Given the description of an element on the screen output the (x, y) to click on. 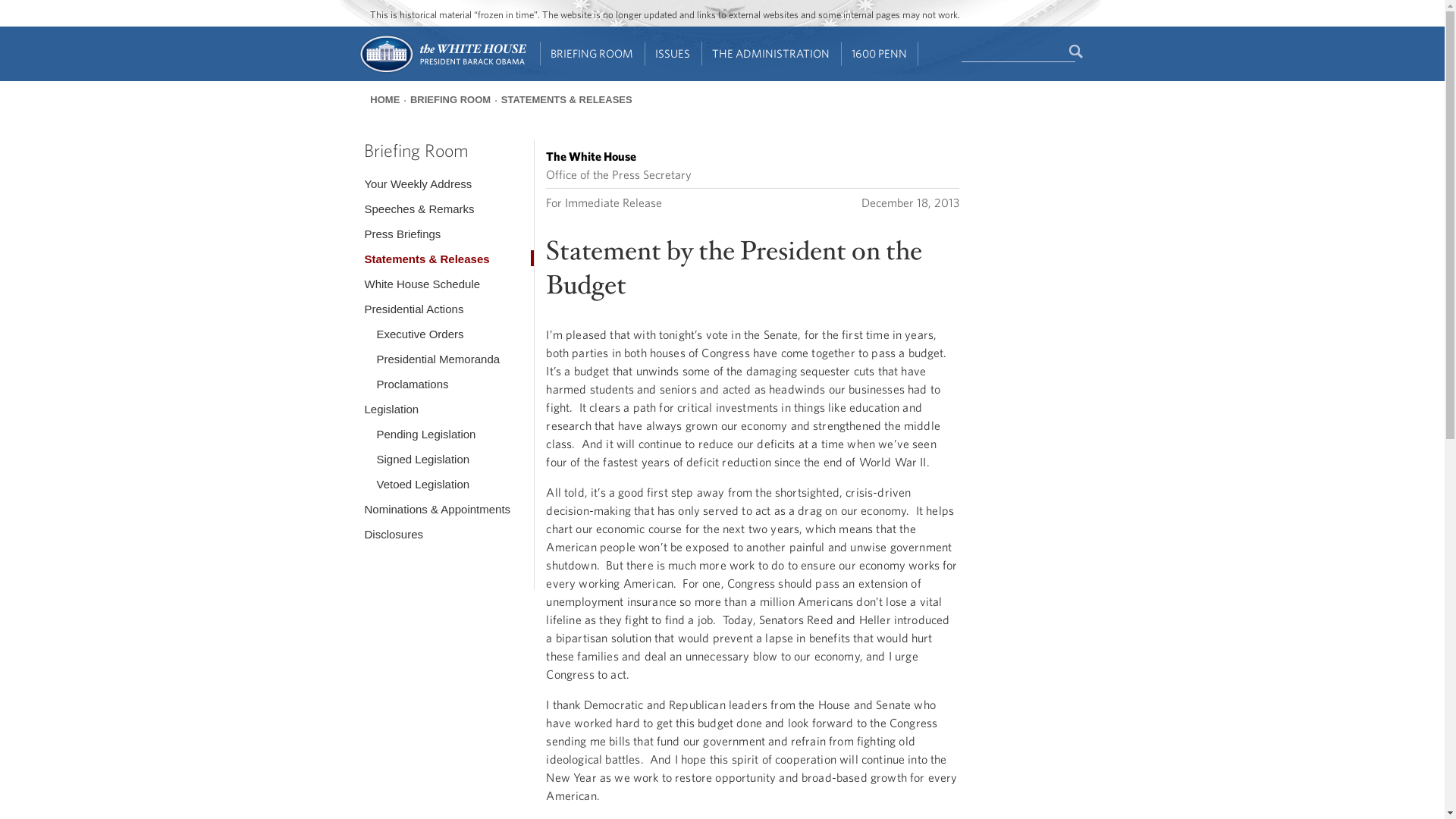
ISSUES (673, 53)
Enter the terms you wish to search for. (1017, 52)
Home (441, 70)
BRIEFING ROOM (592, 53)
Search (1076, 51)
